Given the description of an element on the screen output the (x, y) to click on. 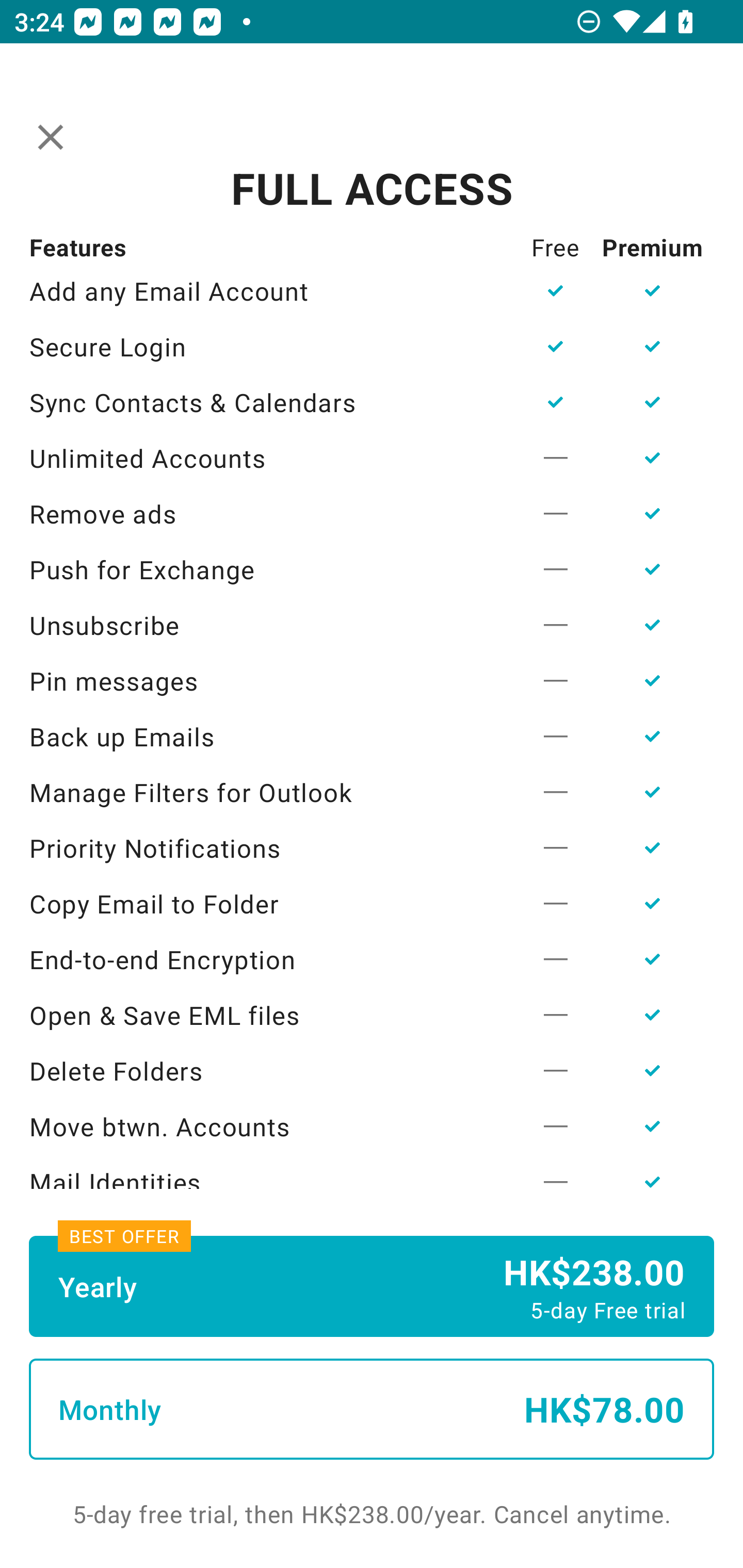
Yearly HK$238.00 5-day Free trial (371, 1286)
Monthly HK$78.00 (371, 1408)
